Given the description of an element on the screen output the (x, y) to click on. 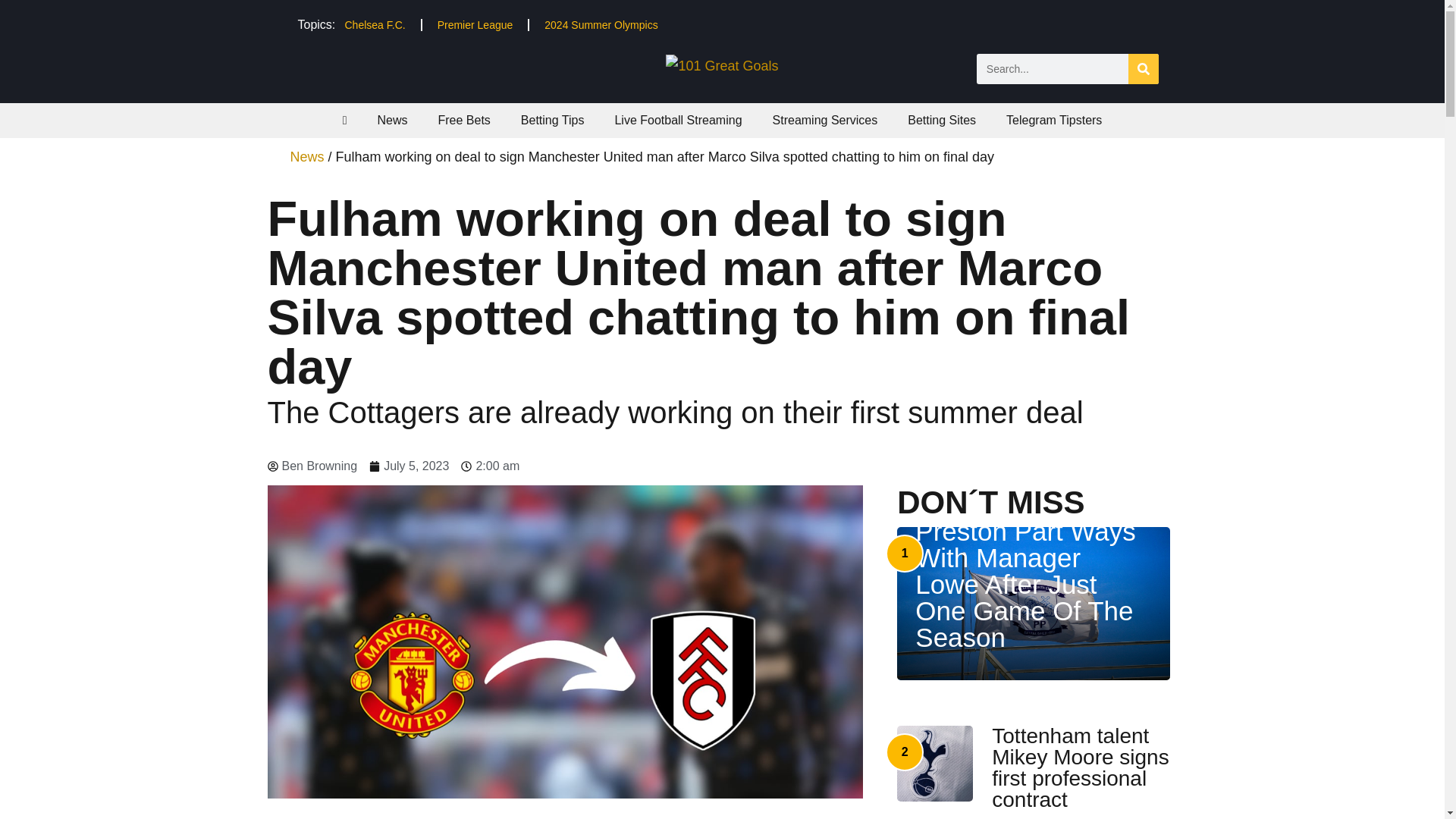
Premier League (475, 24)
Free Bets (463, 120)
101 Great Goals (721, 65)
News (391, 120)
Live Football Streaming (677, 120)
Betting Tips (552, 120)
Betting Sites (941, 120)
Streaming Services (825, 120)
2024 Summer Olympics (600, 24)
Chelsea F.C. (374, 24)
